Given the description of an element on the screen output the (x, y) to click on. 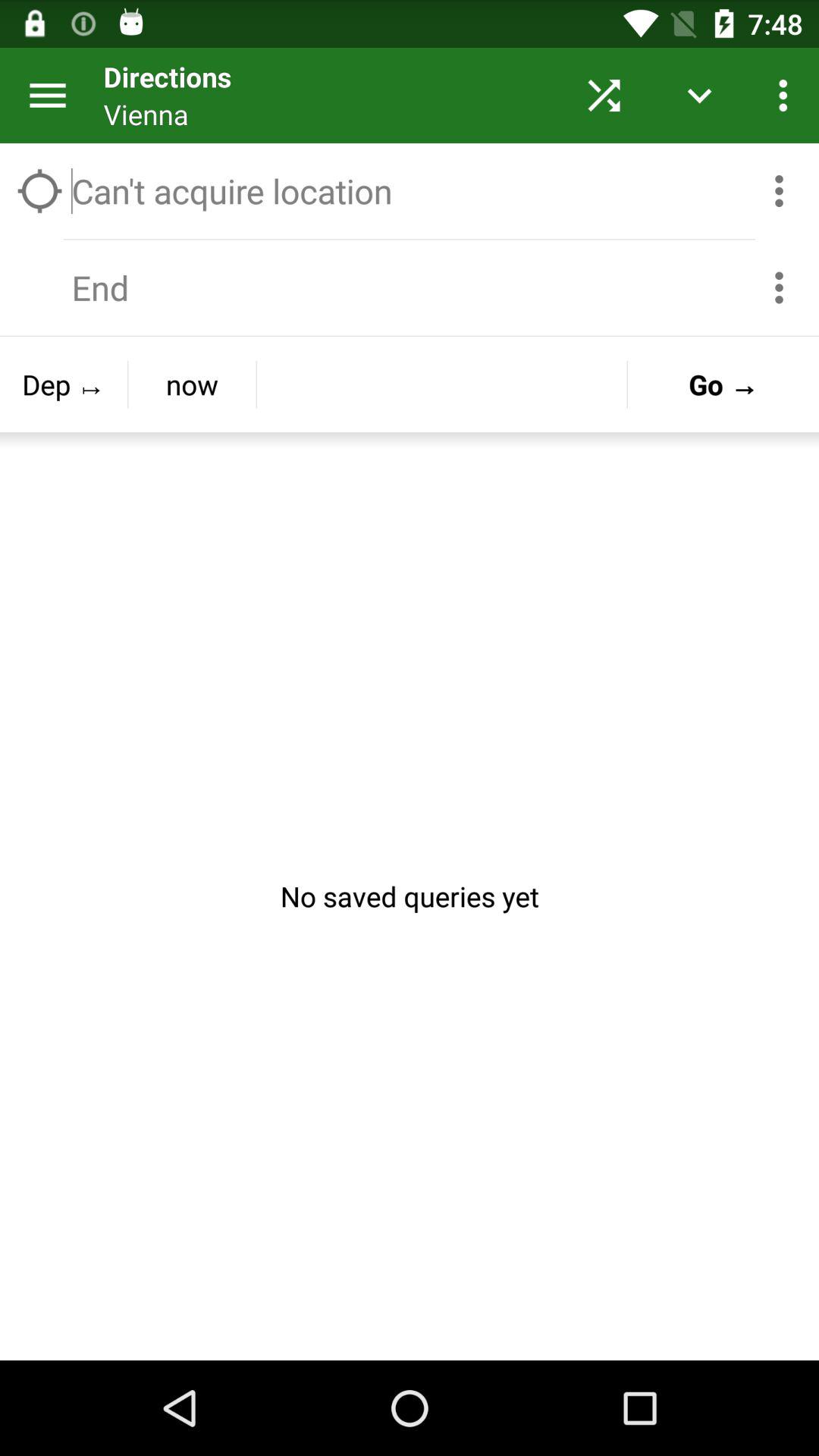
click the button on left to the three dots button on the web page (699, 95)
click on the button next to vienna (603, 95)
click the go button on the web page (723, 384)
click the directions button on the web page (325, 95)
